Given the description of an element on the screen output the (x, y) to click on. 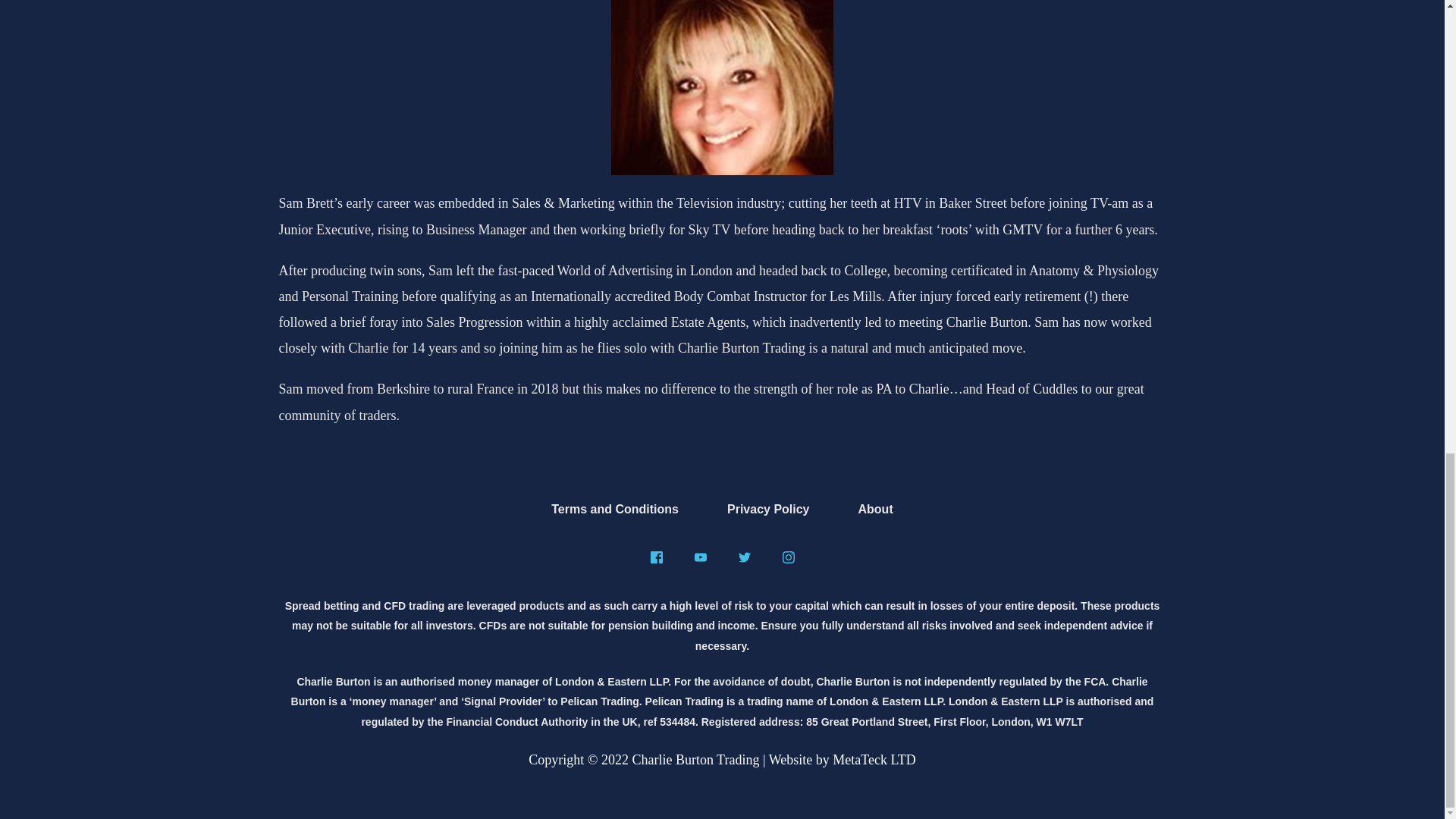
About (875, 509)
Privacy Policy (768, 509)
Terms and Conditions (614, 509)
